Given the description of an element on the screen output the (x, y) to click on. 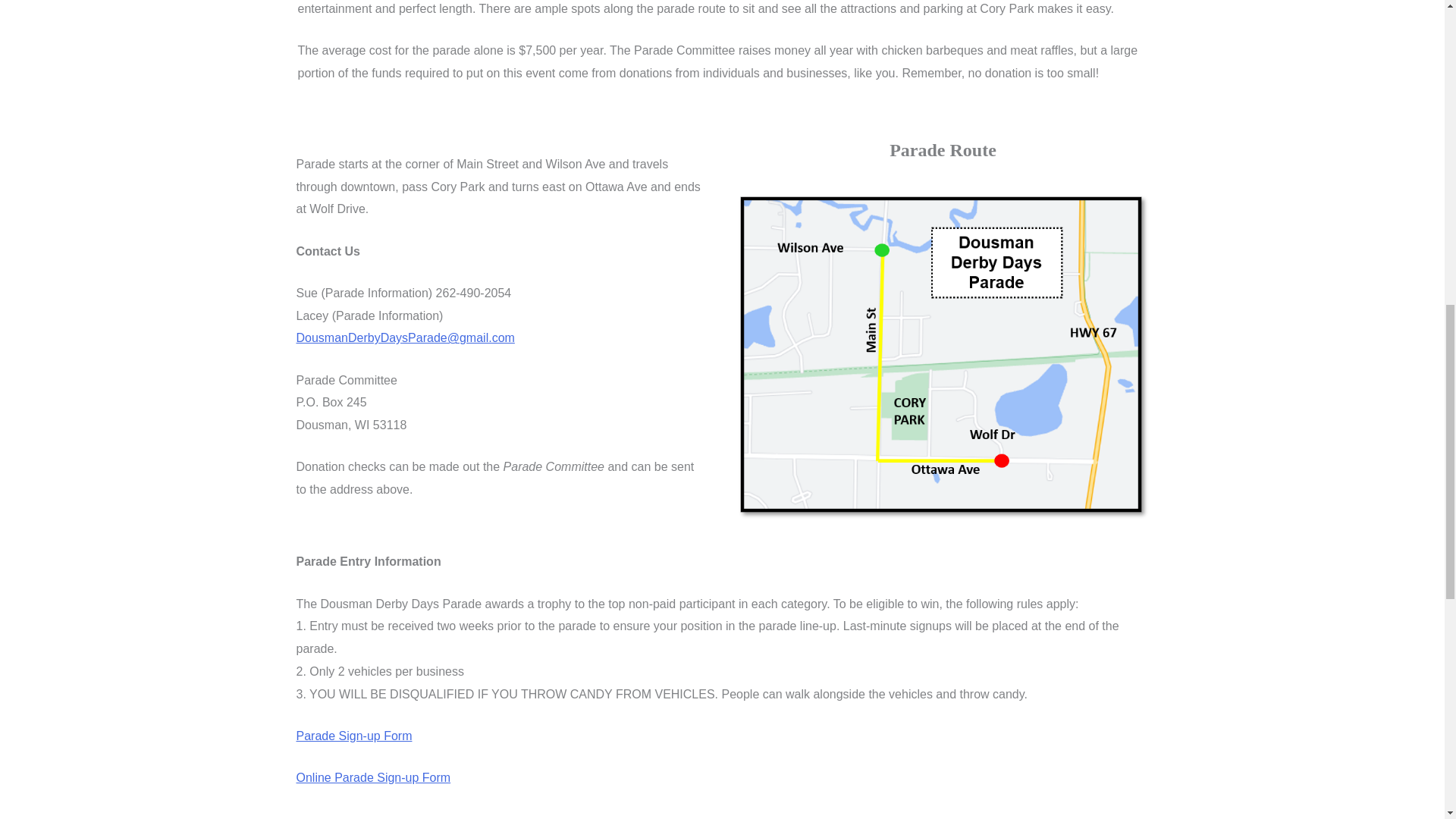
Online Parade Sign-up Form (372, 777)
parade (942, 356)
Parade Sign-up Form (353, 735)
